Given the description of an element on the screen output the (x, y) to click on. 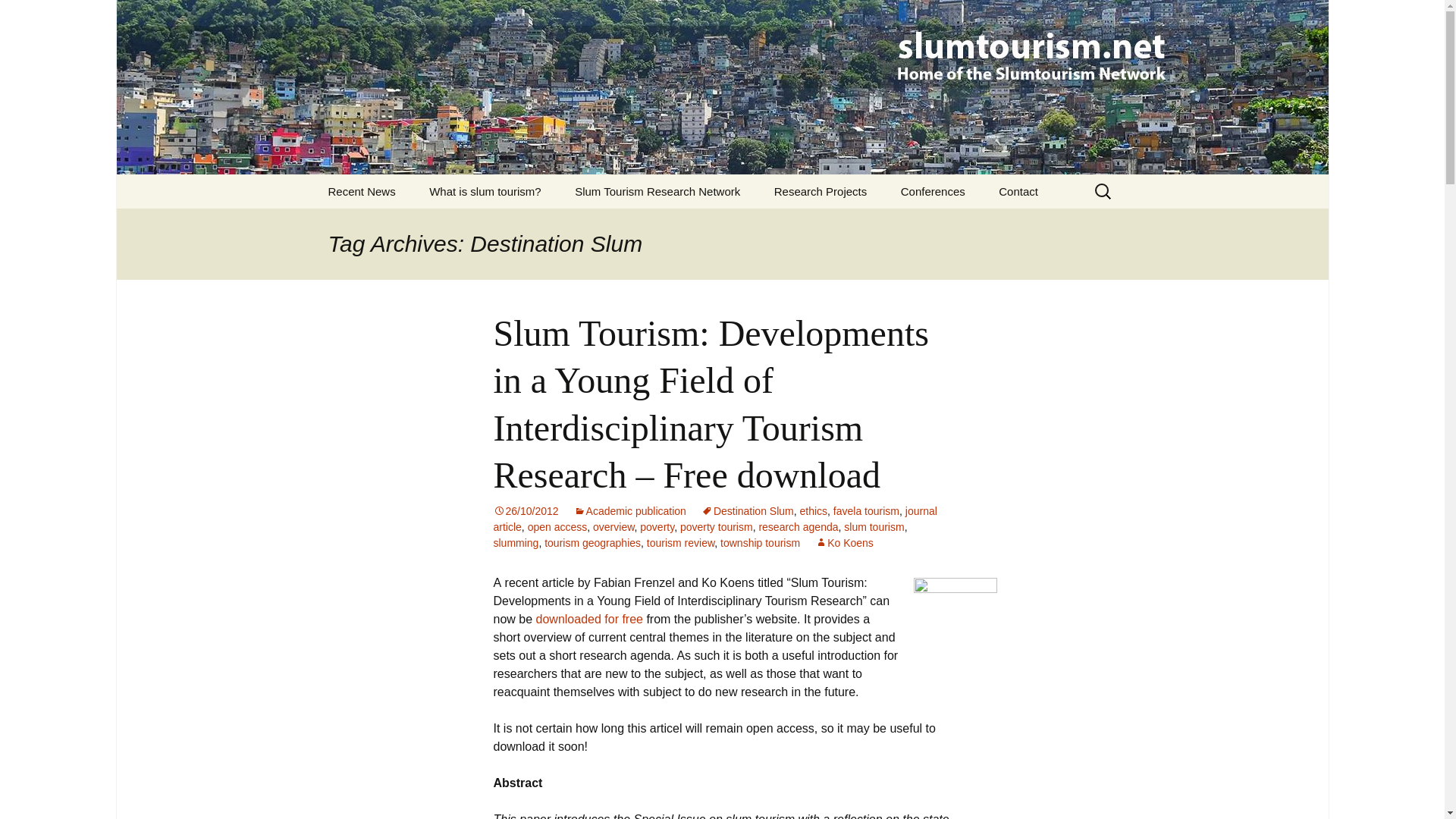
township tourism (759, 542)
Marie Curie Fellowship: Qualitative Indicators (834, 230)
About Slumtourism.net (635, 225)
View all posts by Ko Koens (844, 542)
tourism geographies (592, 542)
ethics (813, 510)
Destination Slum (612, 526)
slumming (747, 510)
What is slum tourism? (515, 542)
Research Projects (484, 191)
Skip to content (820, 191)
